Given the description of an element on the screen output the (x, y) to click on. 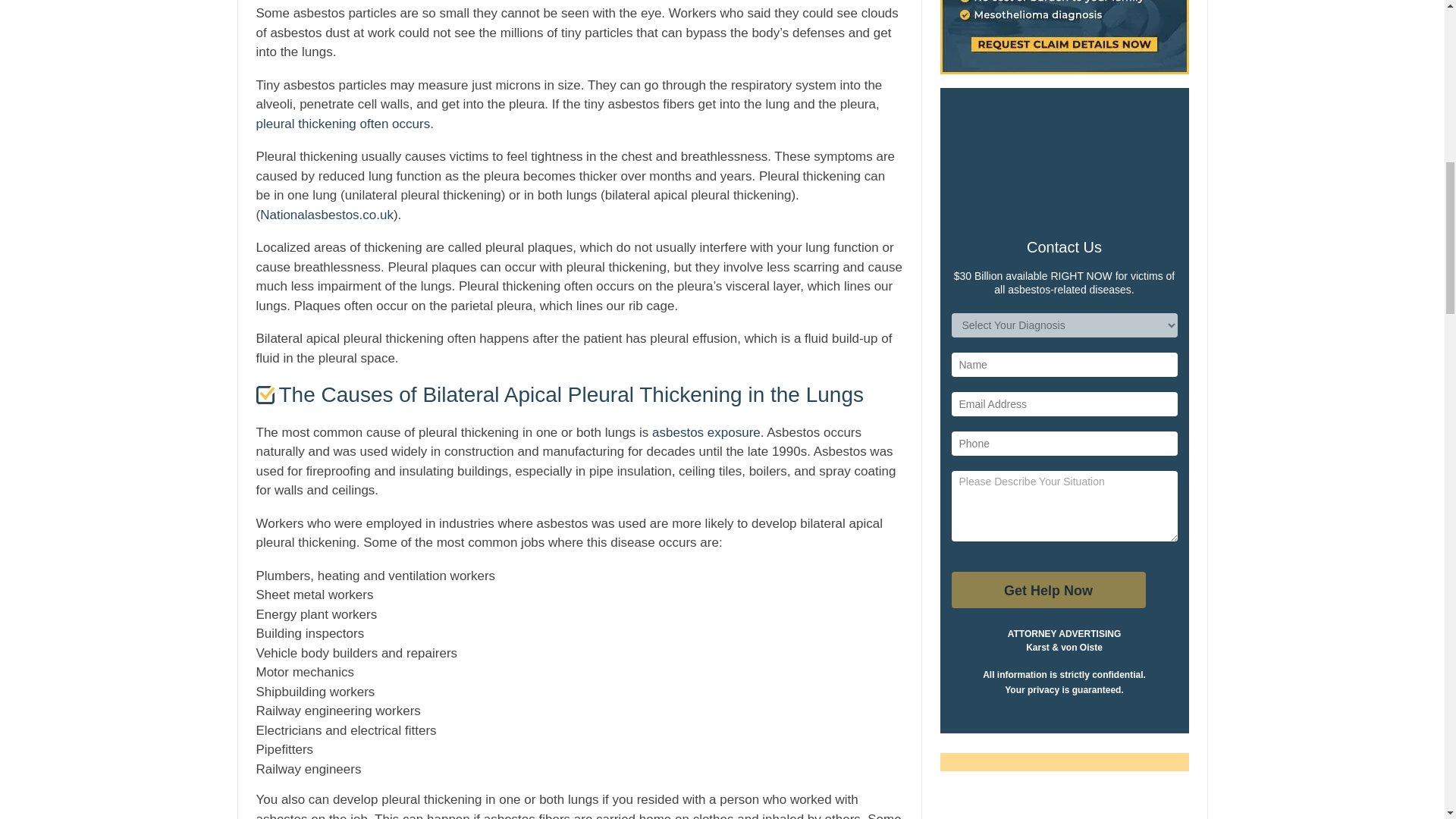
Get Help Now (1047, 589)
90 Day Express Asbestos Claims (1064, 37)
